Given the description of an element on the screen output the (x, y) to click on. 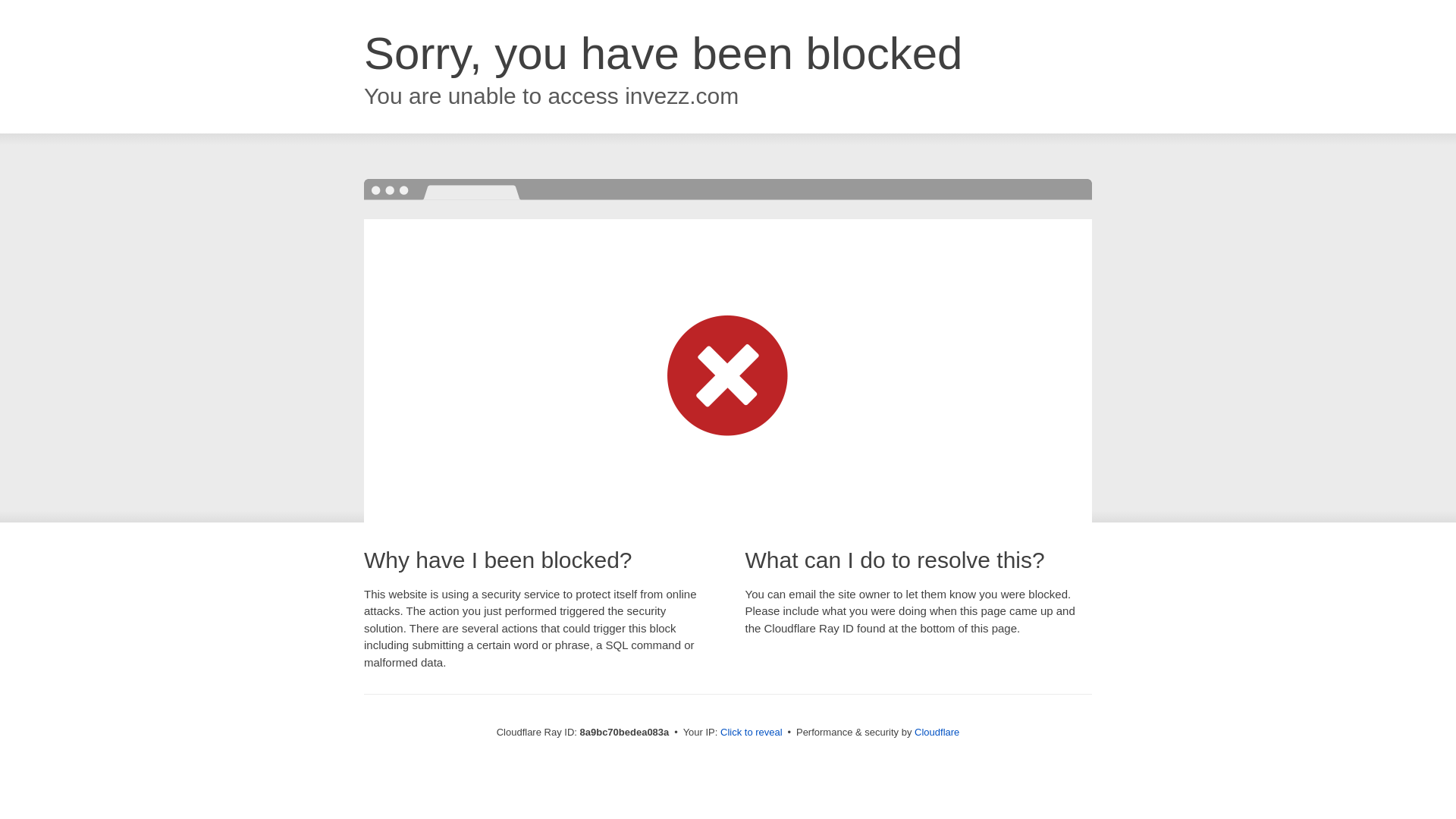
Click to reveal (751, 732)
Cloudflare (936, 731)
